Given the description of an element on the screen output the (x, y) to click on. 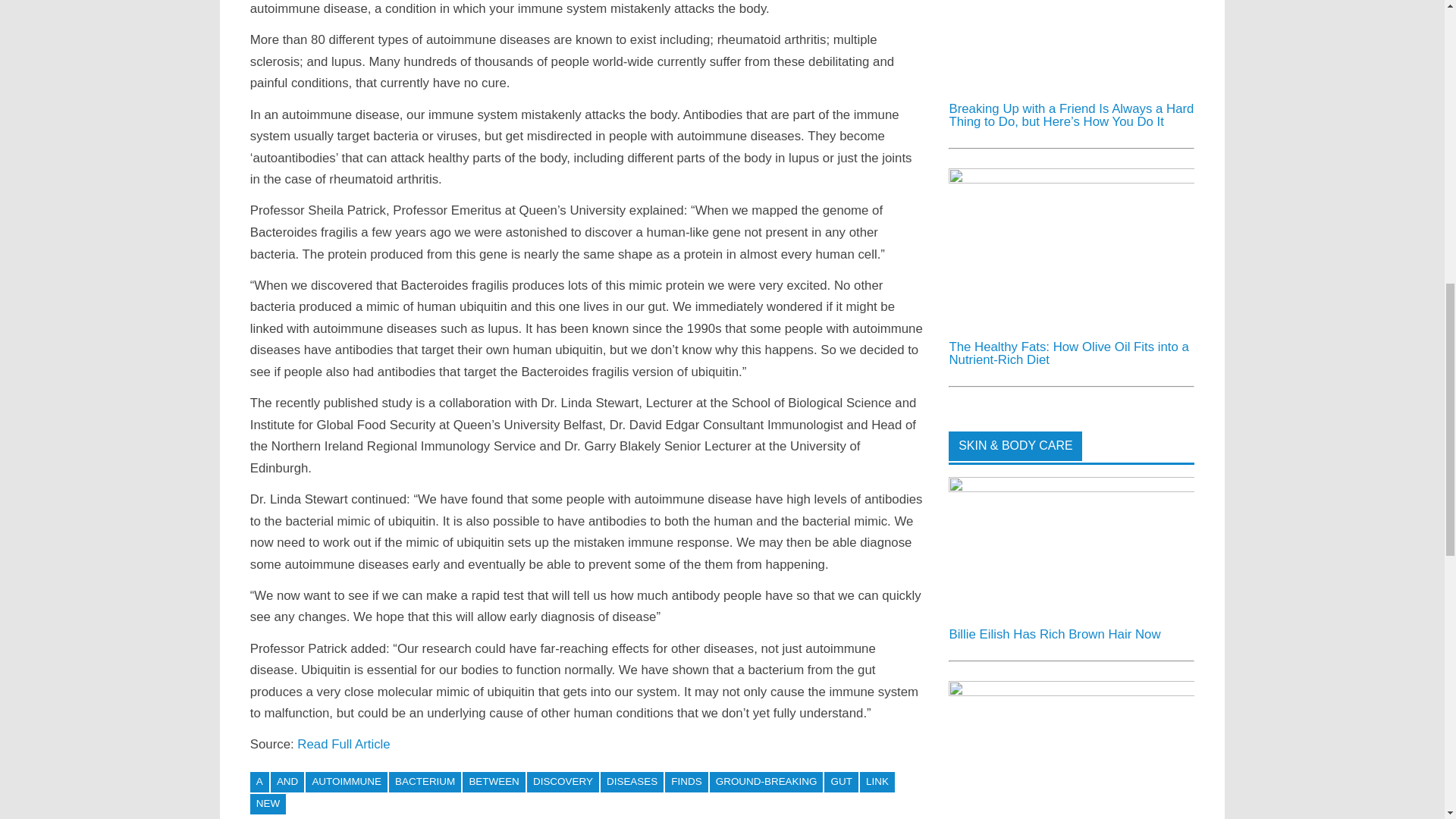
Billie Eilish Has Rich Brown Hair Now (1071, 487)
FINDS (686, 782)
BACTERIUM (424, 782)
BETWEEN (494, 782)
Read Full Article (343, 744)
AUTOIMMUNE (346, 782)
A (259, 782)
AND (287, 782)
Billie Eilish Has Rich Brown Hair Now (1071, 545)
